Given the description of an element on the screen output the (x, y) to click on. 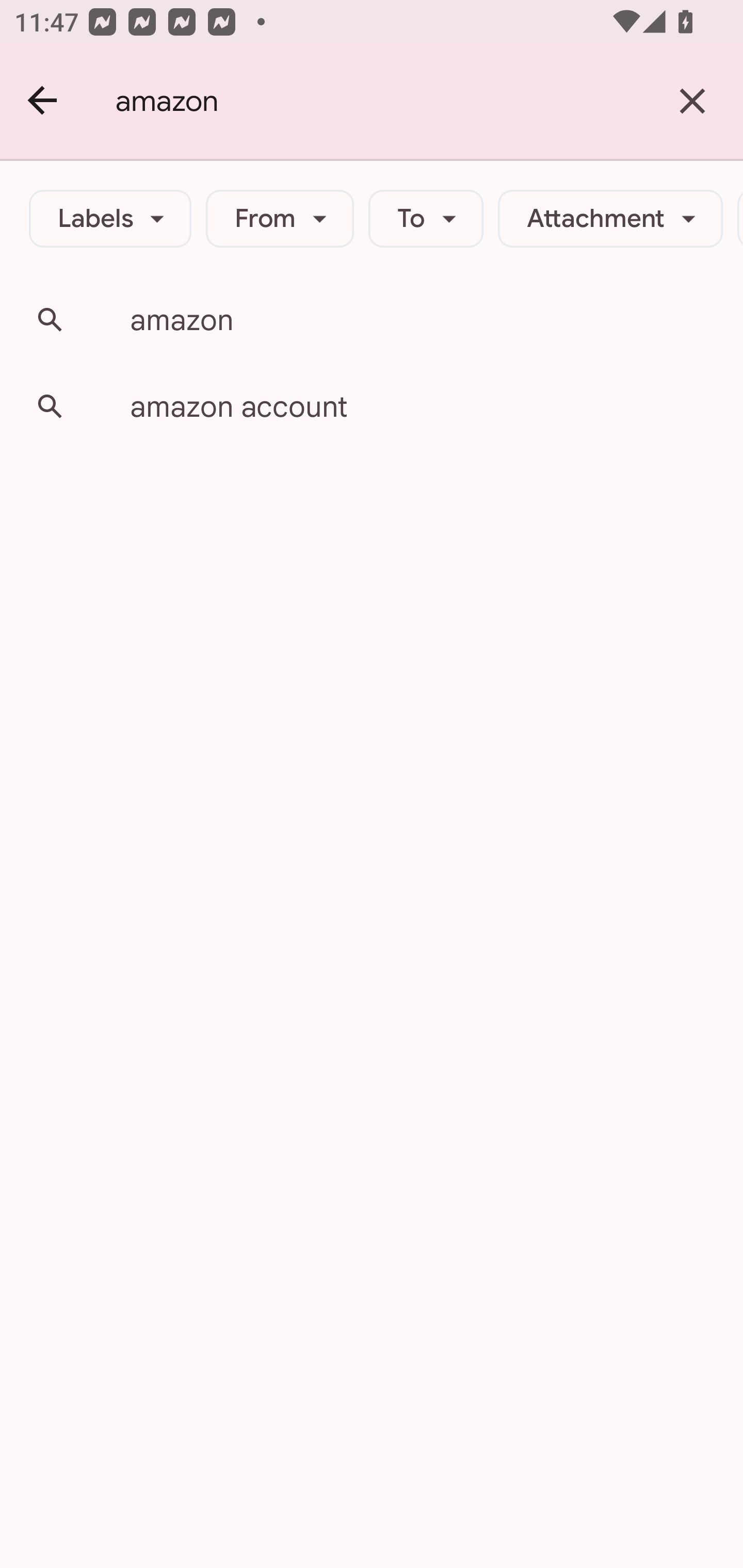
Back (43, 101)
amazon (378, 101)
Clear text (692, 101)
Labels (109, 218)
From (279, 218)
To (425, 218)
Attachment (609, 218)
amazon Suggestion: amazon (371, 319)
amazon account Suggestion: amazon account (371, 406)
